Given the description of an element on the screen output the (x, y) to click on. 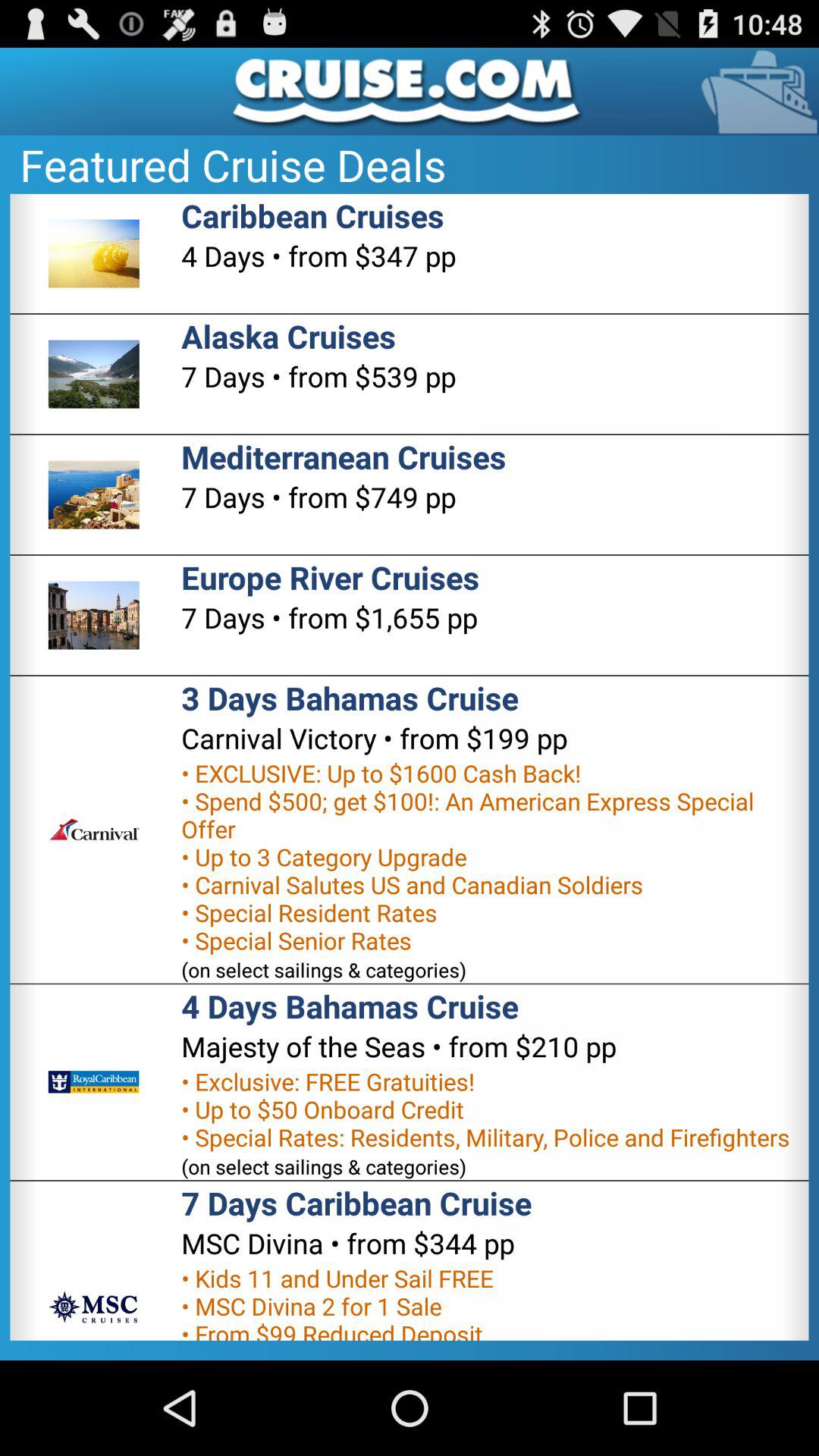
tap caribbean cruises item (312, 215)
